Given the description of an element on the screen output the (x, y) to click on. 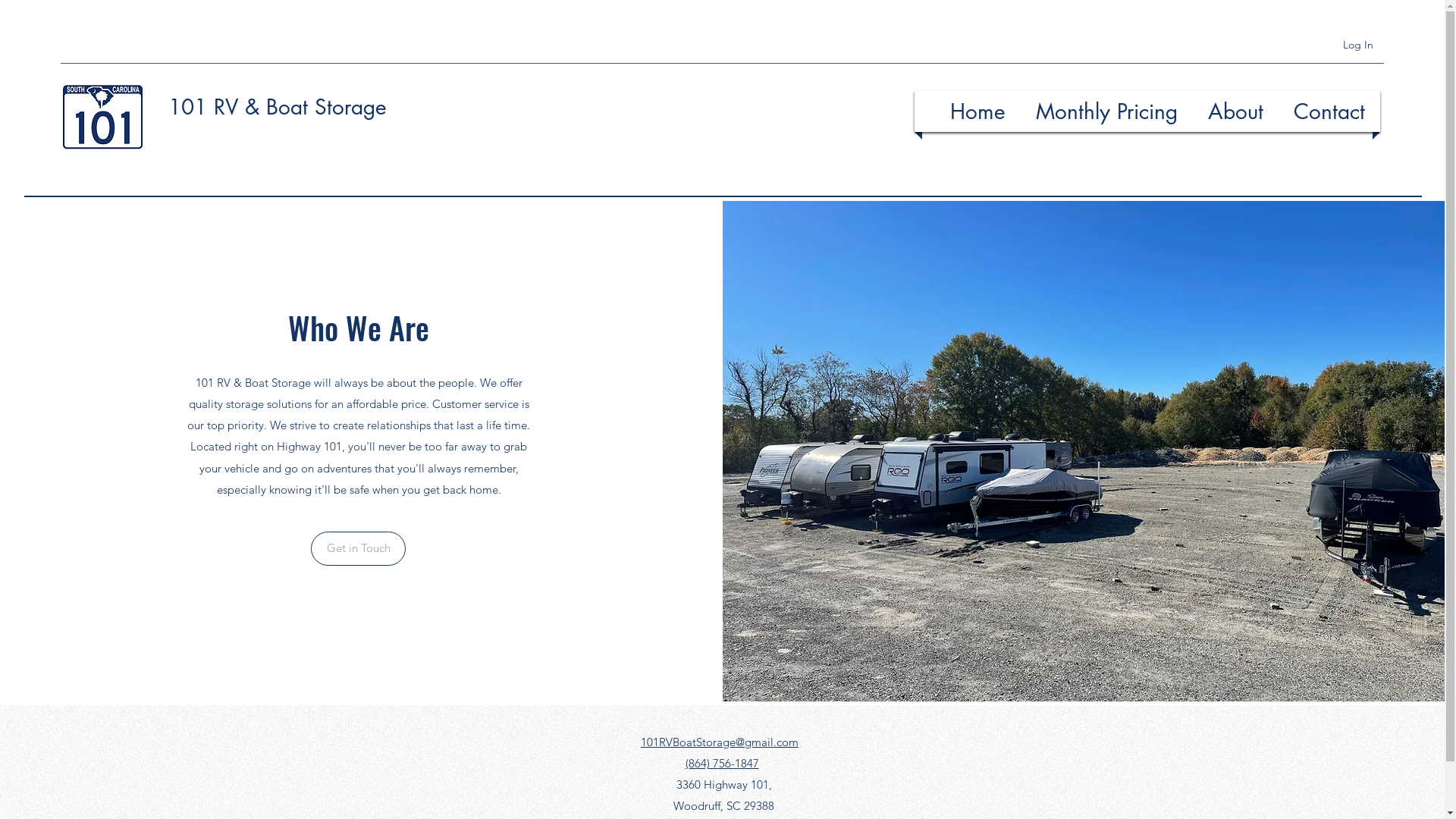
Get in Touch Element type: text (357, 548)
About Element type: text (1235, 111)
101 RV & Boat Storage Element type: text (277, 106)
Log In Element type: text (1357, 45)
Home Element type: text (977, 111)
Visitor Analytics Element type: hover (1442, 4)
(864) 756-1847 Element type: text (722, 763)
Contact Element type: text (1329, 111)
101RVBoatStorage@gmail.com Element type: text (719, 741)
Monthly Pricing Element type: text (1106, 111)
